Given the description of an element on the screen output the (x, y) to click on. 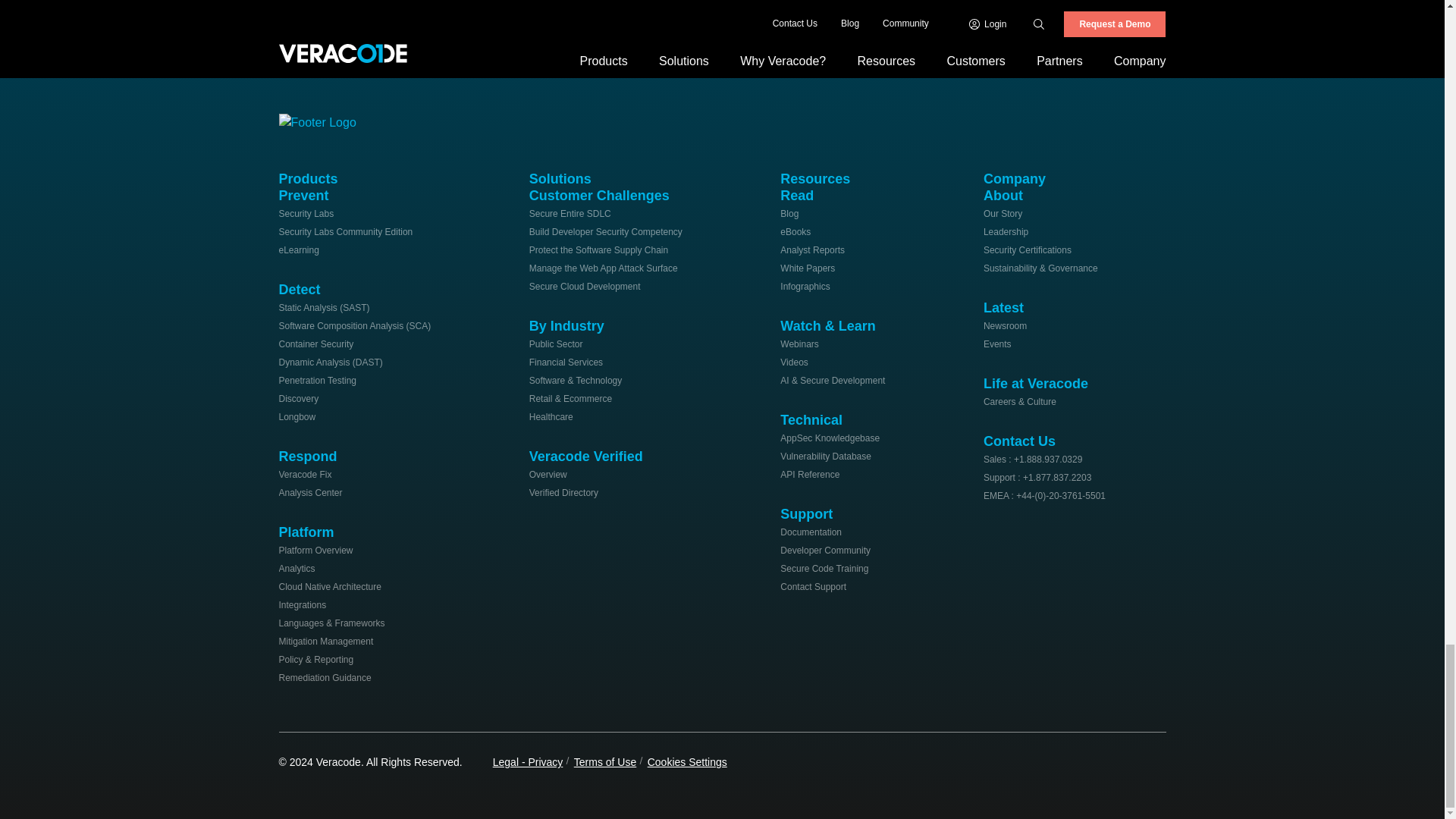
Longbow (297, 416)
Cookies Settings (686, 761)
Legal - Privacy (528, 761)
VeraCode (325, 119)
Terms of Use (604, 761)
